Given the description of an element on the screen output the (x, y) to click on. 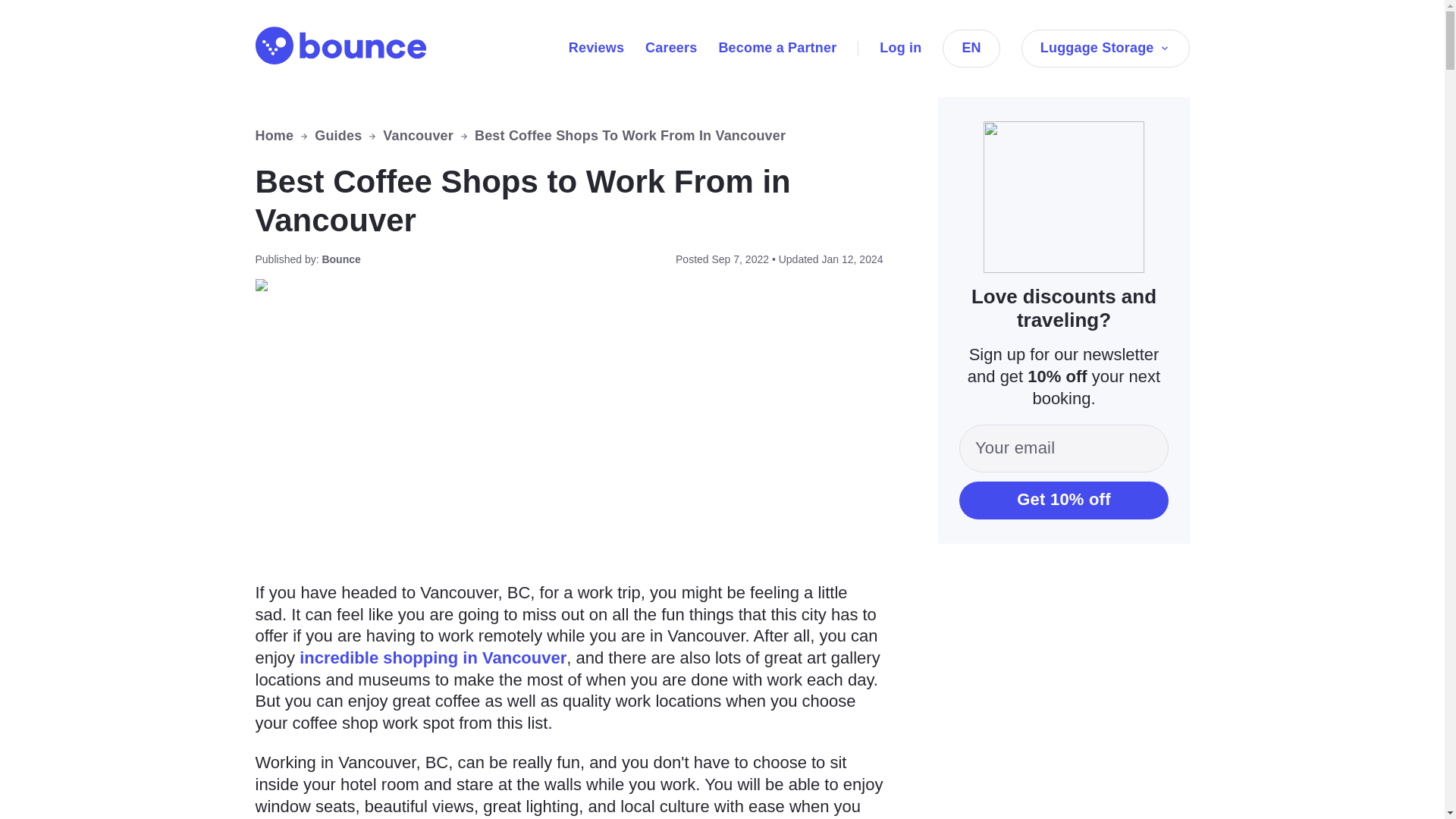
Home (274, 135)
incredible shopping in Vancouver (432, 657)
Reviews (596, 47)
Vancouver (417, 135)
Bounce (339, 45)
Guides (337, 135)
Careers (671, 47)
Become a Partner (776, 47)
Log in (900, 47)
EN (970, 48)
Luggage Storage (1105, 48)
